Given the description of an element on the screen output the (x, y) to click on. 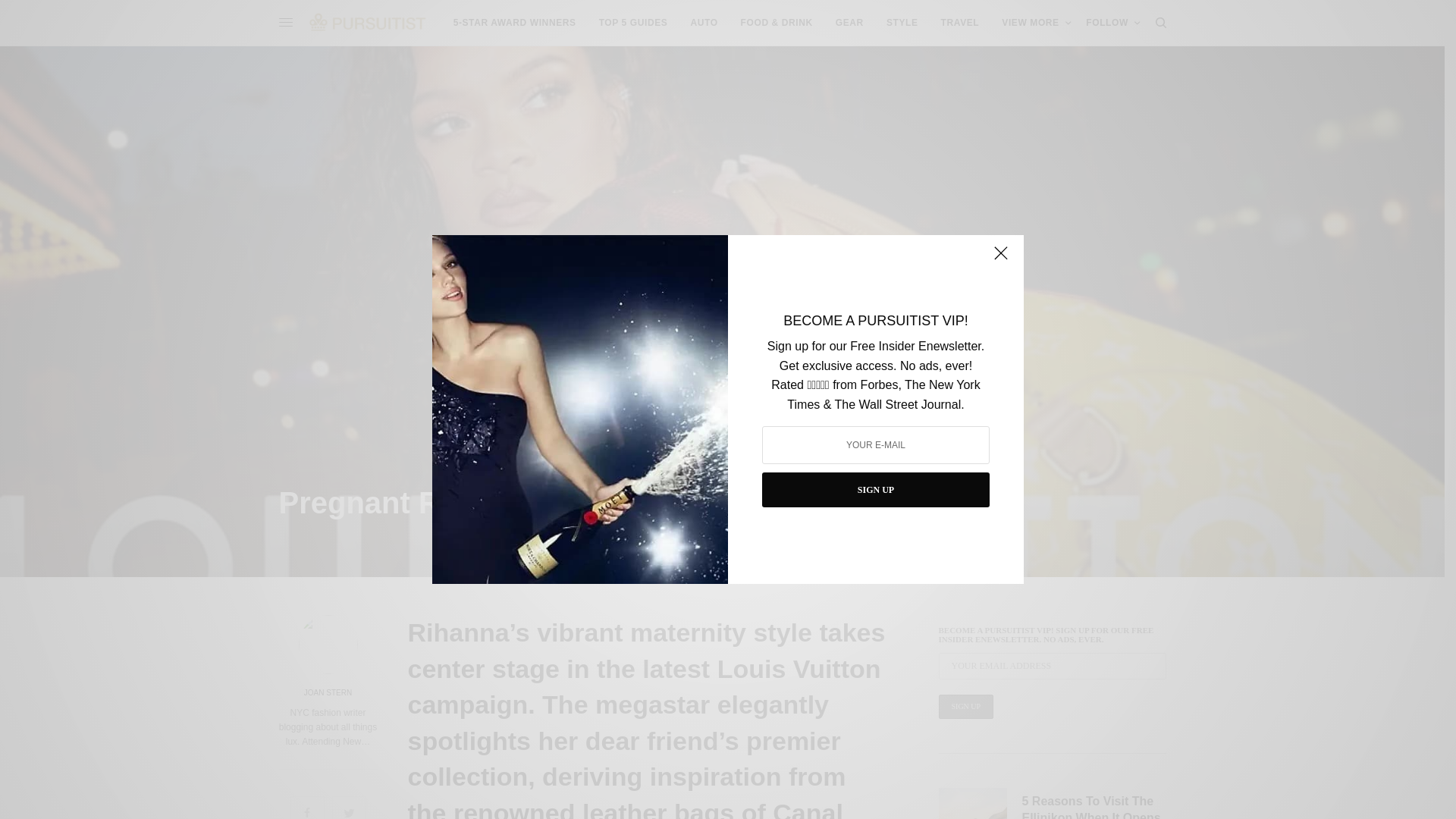
JOAN STERN (328, 692)
5 Reasons To Visit The Ellinikon When It Opens In Greece (1094, 806)
SIGN UP (875, 489)
Pursuitist (366, 22)
5-Star Pursuits (514, 22)
5-STAR AWARD WINNERS (514, 22)
Sign up (966, 706)
TOP 5 GUIDES (633, 22)
FOLLOW (1113, 22)
VIEW MORE (1035, 22)
